Given the description of an element on the screen output the (x, y) to click on. 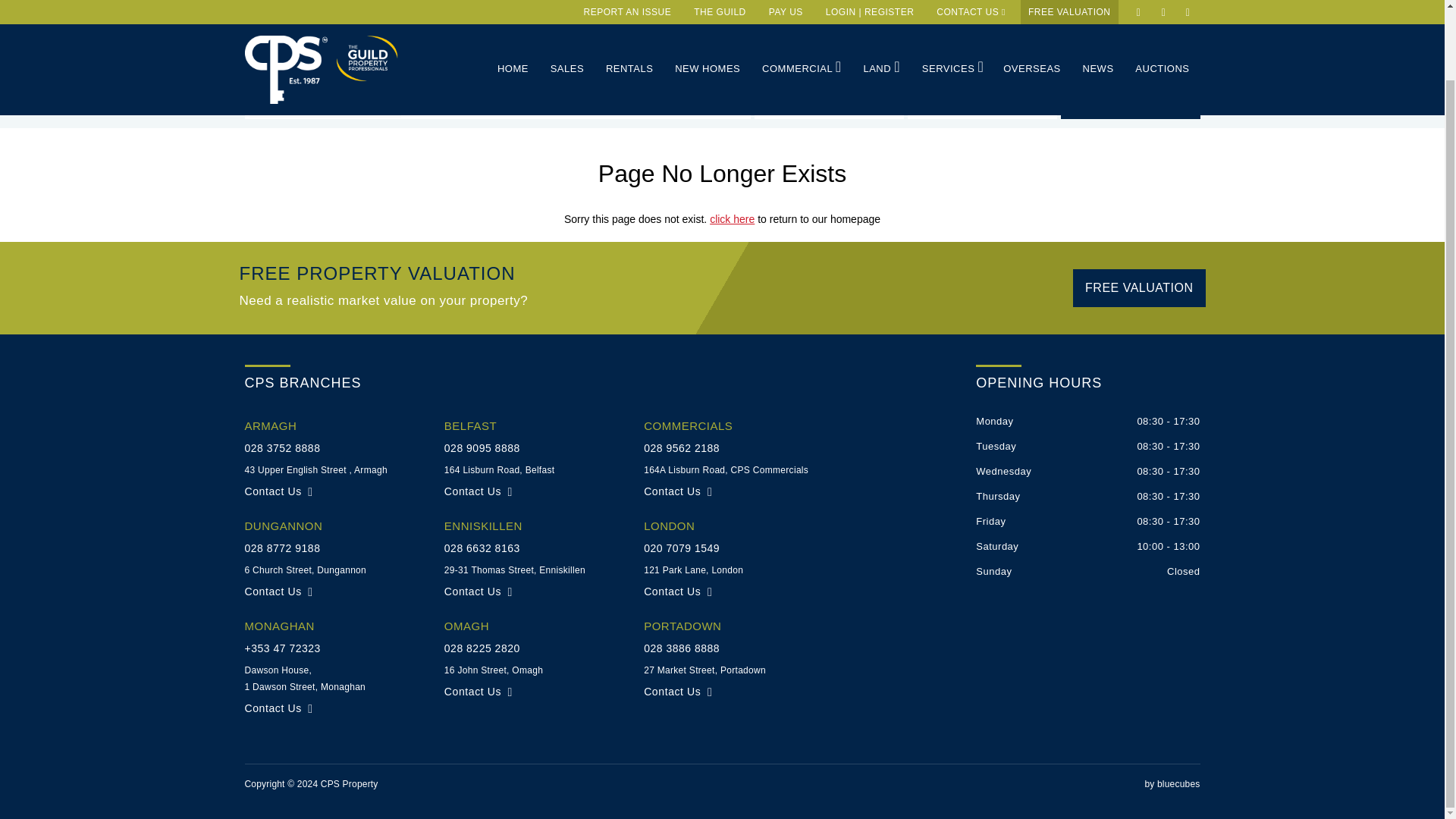
CPS Property Belfast Armagh Dungannon Omagh Enniskillen (285, 12)
RENTALS (629, 17)
CPS Property - The Guild Property Professionals (365, 1)
SALES (567, 17)
NEW HOMES (707, 17)
LAND (881, 17)
HOME (512, 17)
COMMERCIAL (801, 17)
